Given the description of an element on the screen output the (x, y) to click on. 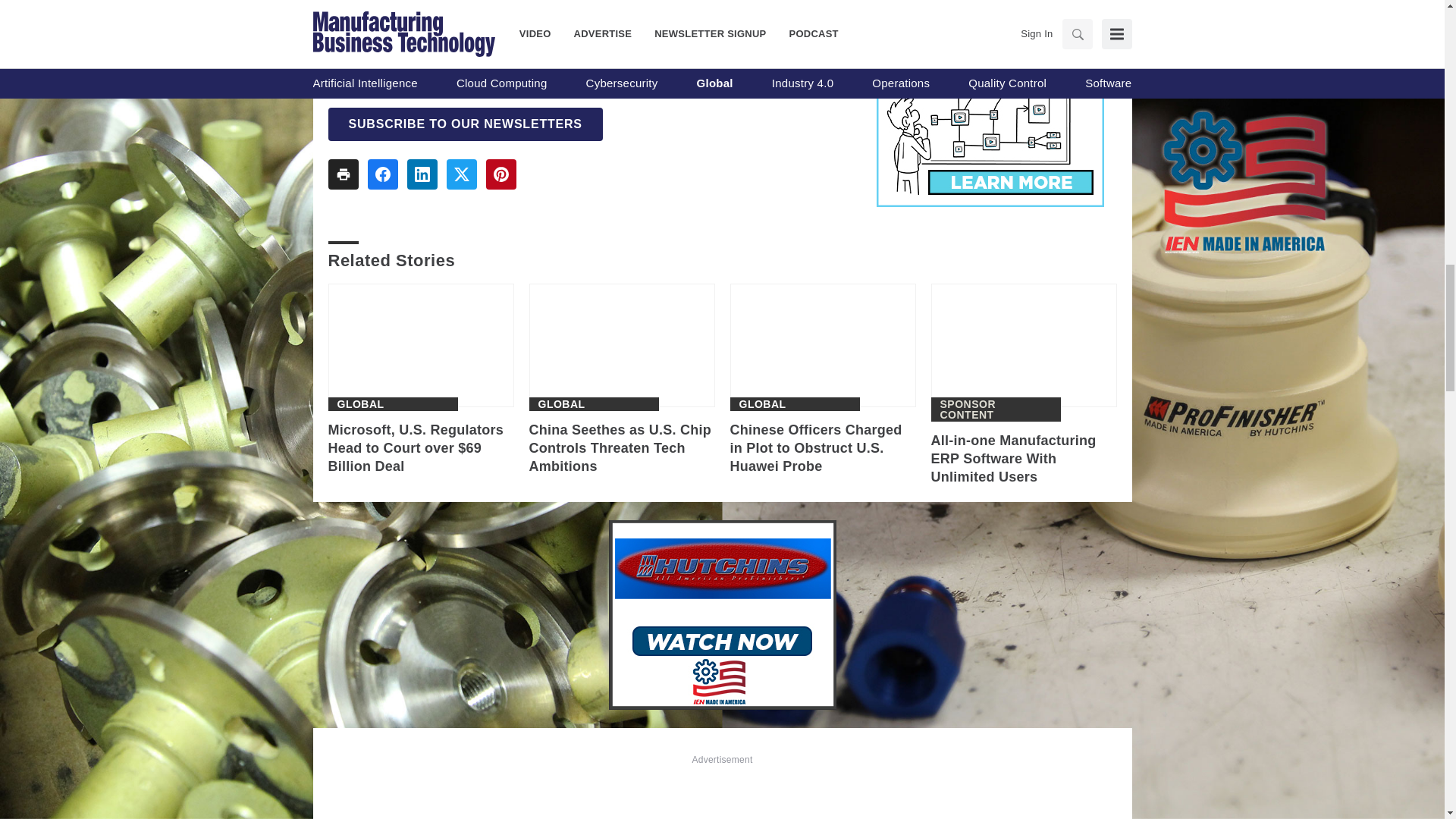
Share To facebook (381, 173)
Global (360, 403)
Share To pinterest (499, 173)
Share To linkedin (421, 173)
Global (762, 403)
Share To twitter (460, 173)
Share To print (342, 173)
Global (561, 403)
